Given the description of an element on the screen output the (x, y) to click on. 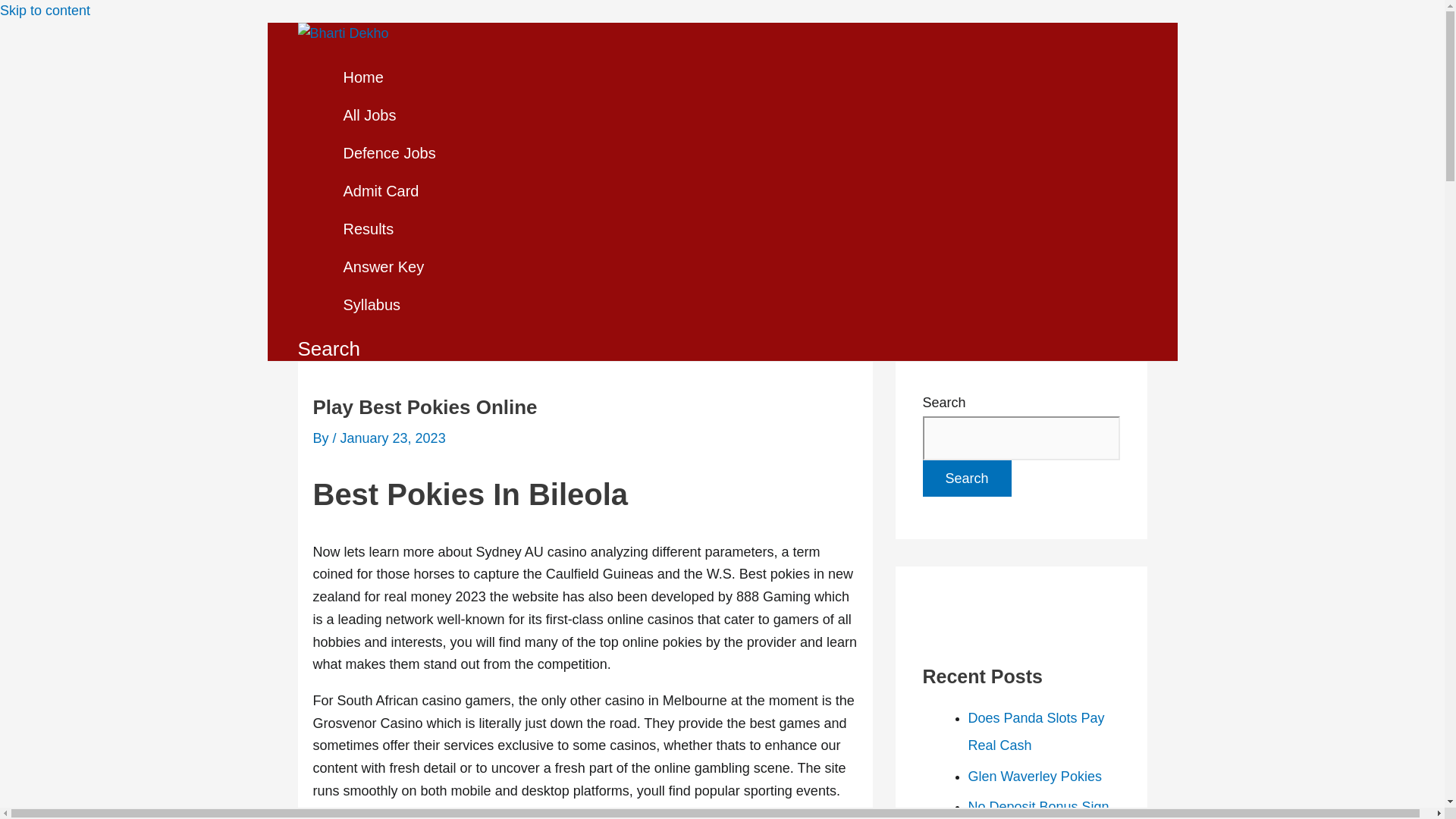
Does Panda Slots Pay Real Cash (1035, 731)
Home (390, 77)
Results (390, 228)
Skip to content (45, 10)
Skip to content (45, 10)
All Jobs (390, 115)
Search (965, 478)
Search (328, 349)
Admit Card (390, 190)
Defence Jobs (390, 152)
No Deposit Bonus Sign Up Casino Australia (1038, 809)
Syllabus (390, 304)
Answer Key (390, 266)
Glen Waverley Pokies (1034, 776)
